Given the description of an element on the screen output the (x, y) to click on. 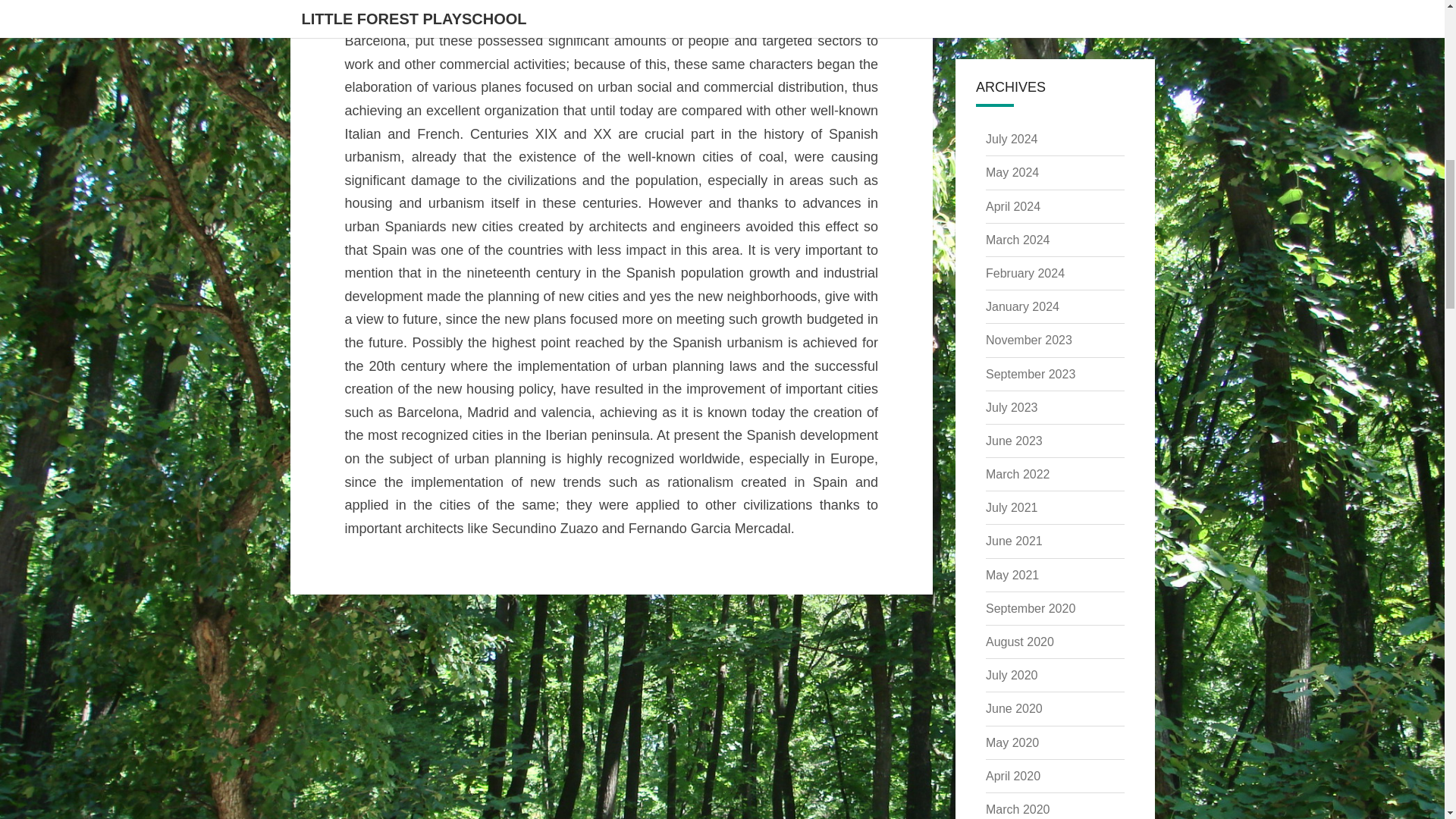
June 2021 (1013, 540)
March 2022 (1017, 473)
November 2023 (1028, 339)
September 2023 (1030, 373)
July 2021 (1011, 507)
February 2024 (1024, 273)
June 2023 (1013, 440)
August 2020 (1019, 641)
May 2024 (1012, 172)
April 2020 (1013, 775)
